Given the description of an element on the screen output the (x, y) to click on. 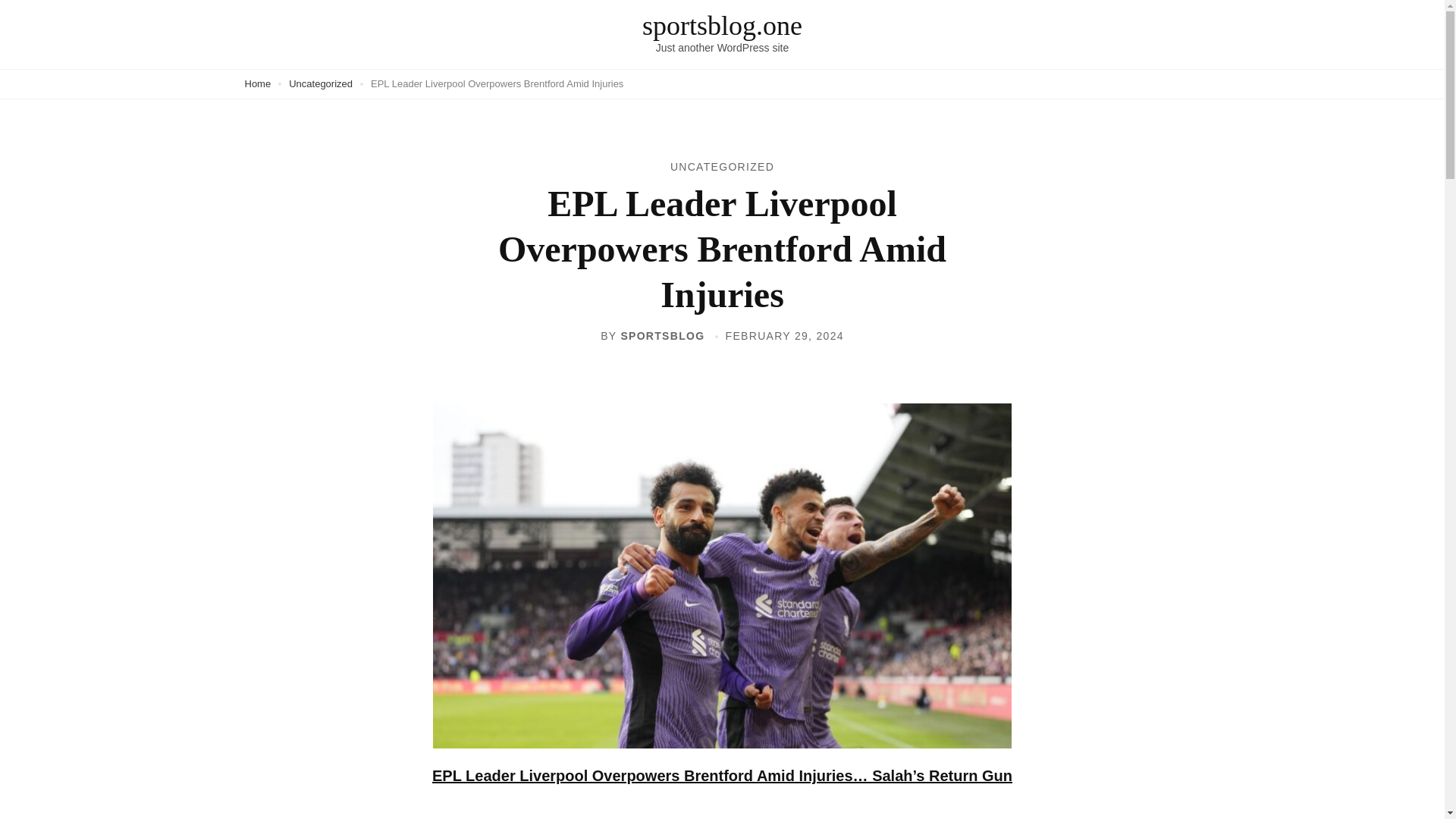
Uncategorized (320, 83)
FEBRUARY 29, 2024 (784, 336)
SPORTSBLOG (662, 336)
EPL Leader Liverpool Overpowers Brentford Amid Injuries (497, 83)
Home (257, 83)
UNCATEGORIZED (721, 166)
sportsblog.one (722, 25)
